Given the description of an element on the screen output the (x, y) to click on. 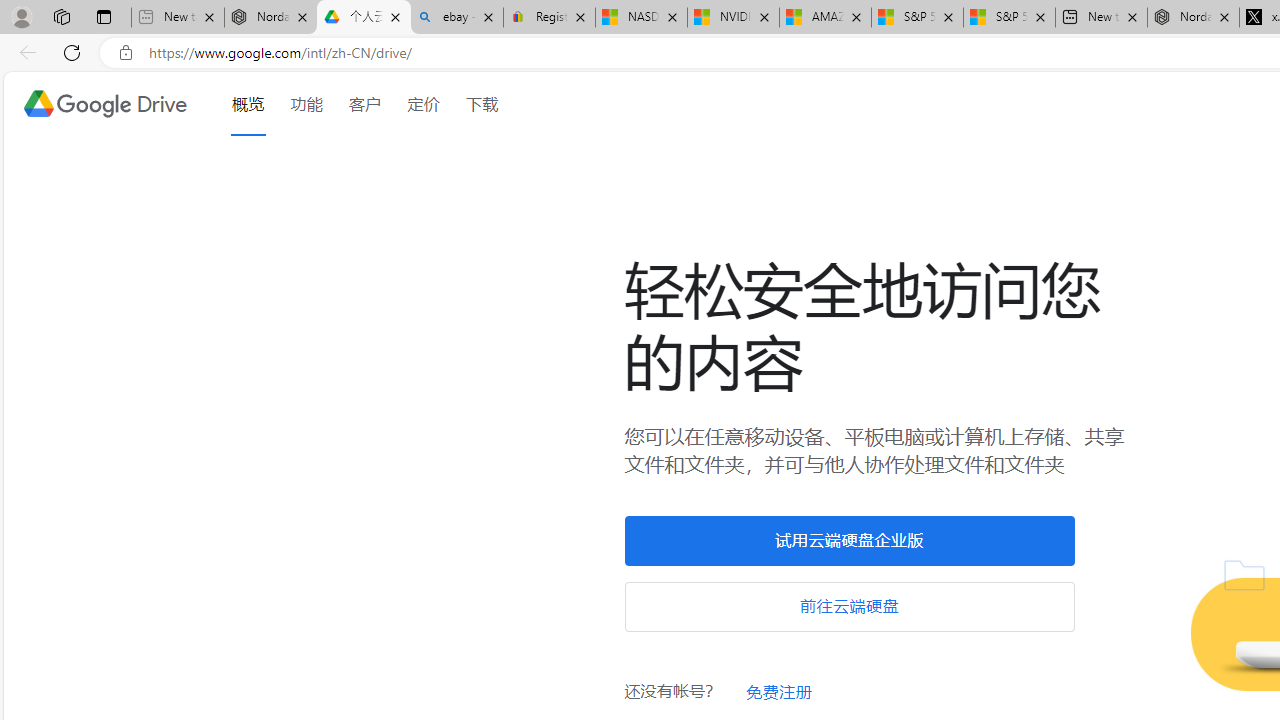
ebay - Search (456, 17)
New tab - Sleeping (177, 17)
